Given the description of an element on the screen output the (x, y) to click on. 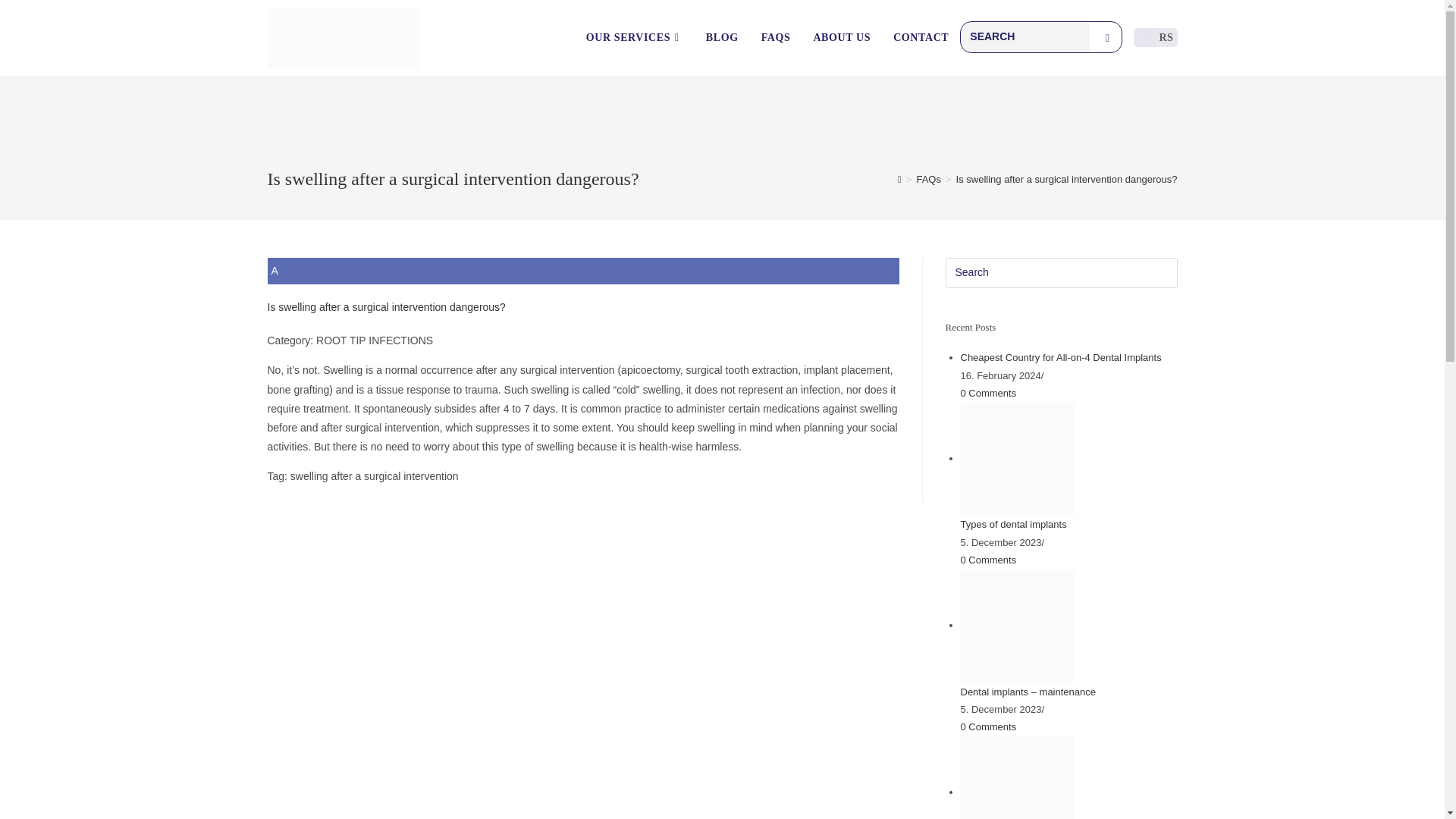
Types of dental implants (1016, 458)
OUR SERVICES (634, 38)
